Given the description of an element on the screen output the (x, y) to click on. 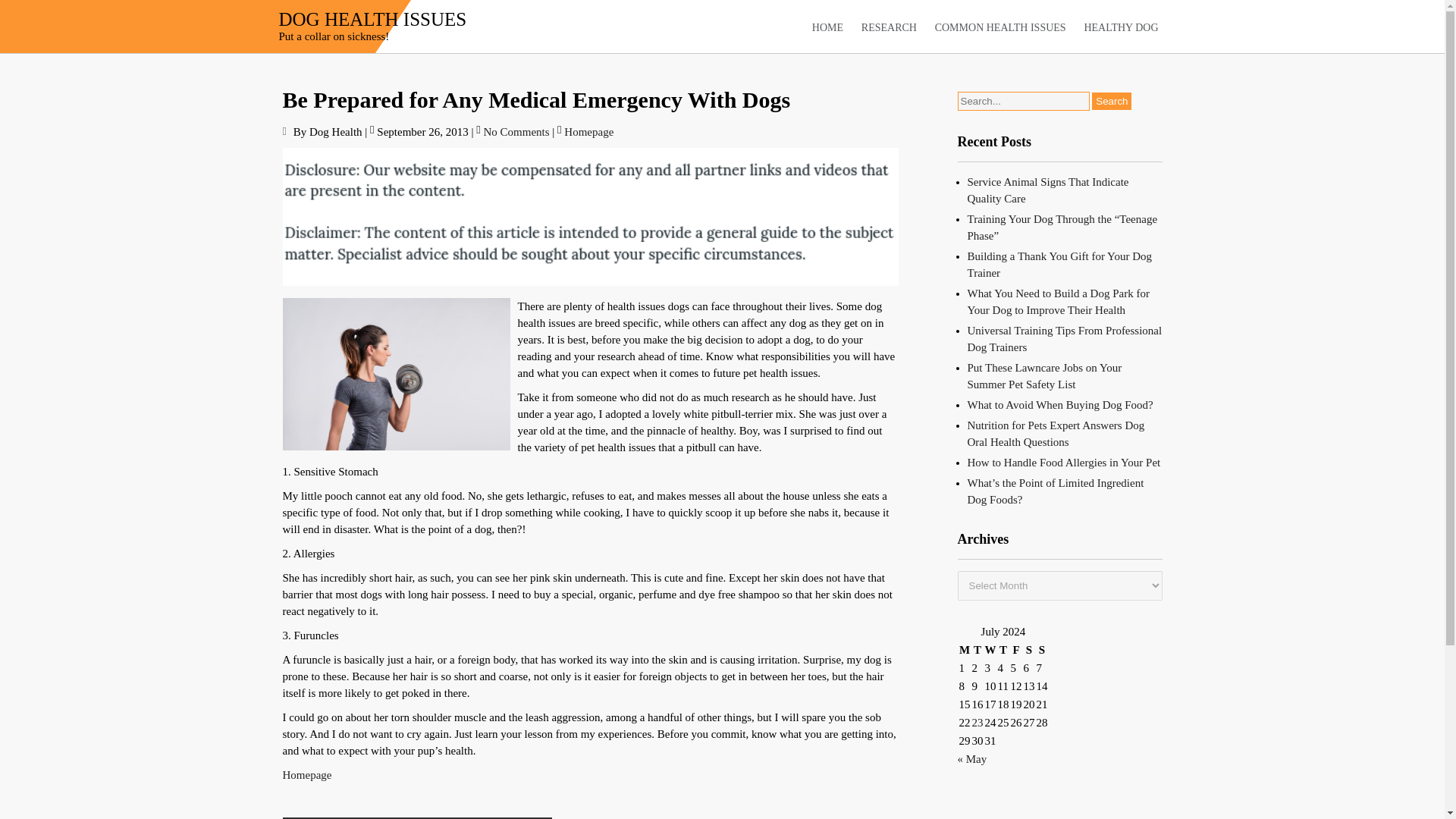
Universal Training Tips From Professional Dog Trainers (1064, 338)
Search (1111, 100)
Search (1111, 100)
DOG HEALTH ISSUES (373, 19)
23 (978, 722)
What to Avoid When Buying Dog Food? (1060, 404)
No Comments (515, 132)
How to Handle Food Allergies in Your Pet (1064, 462)
Service Animal Signs That Indicate Quality Care (1048, 190)
COMMON HEALTH ISSUES (1000, 27)
Homepage (306, 775)
Building a Thank You Gift for Your Dog Trainer (1060, 264)
HEALTHY DOG (1120, 27)
Search (1111, 100)
Homepage (588, 132)
